Given the description of an element on the screen output the (x, y) to click on. 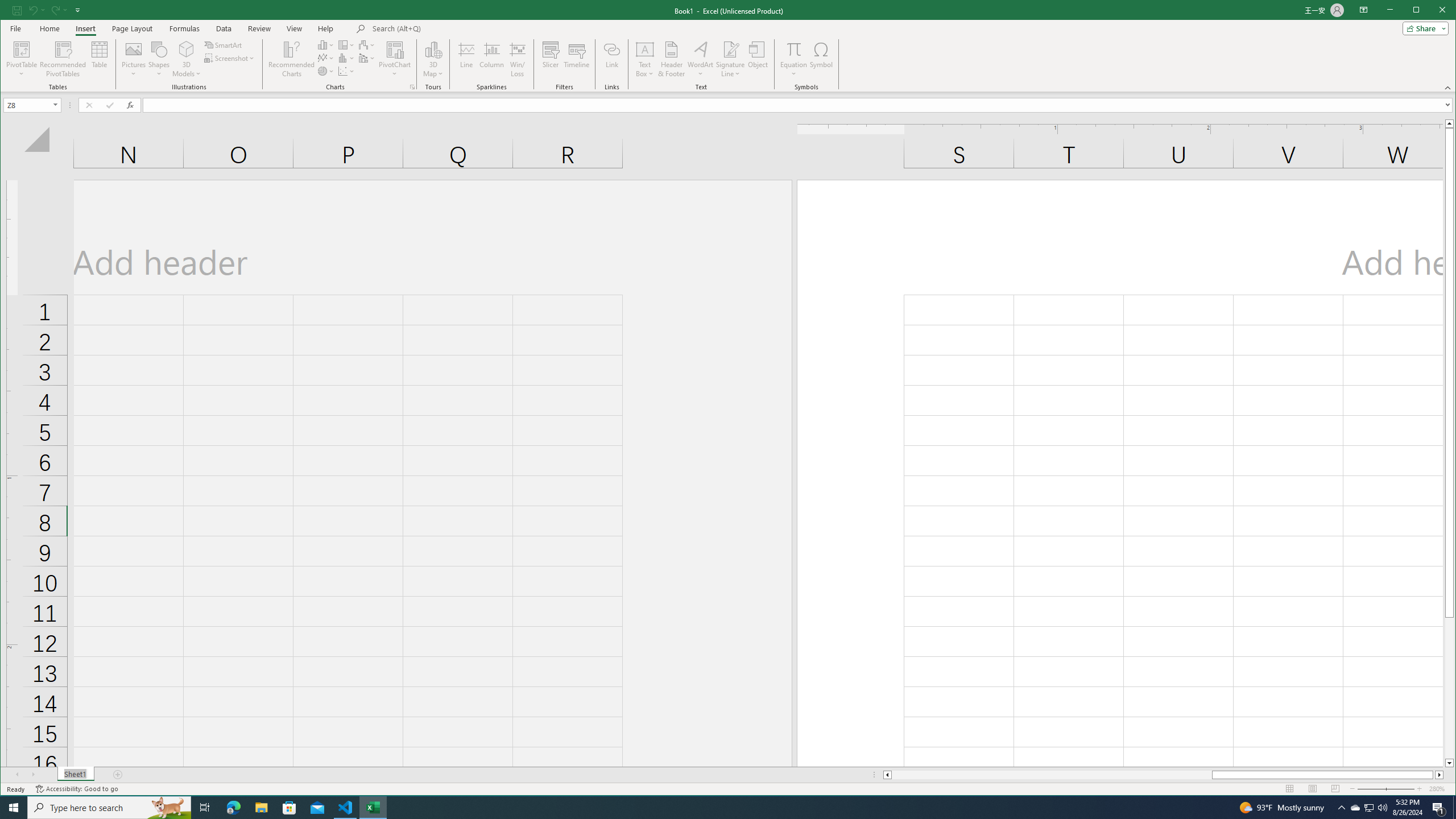
File Tab (15, 27)
PivotChart (394, 59)
Microsoft Store (289, 807)
Class: MsoCommandBar (728, 45)
Recommended Charts (411, 86)
Microsoft Edge (233, 807)
Type here to search (108, 807)
Insert Combo Chart (366, 57)
Visual Studio Code - 1 running window (345, 807)
Name Box (27, 104)
Add Sheet (118, 774)
SmartArt... (224, 44)
Equation (793, 48)
Review (259, 28)
